Given the description of an element on the screen output the (x, y) to click on. 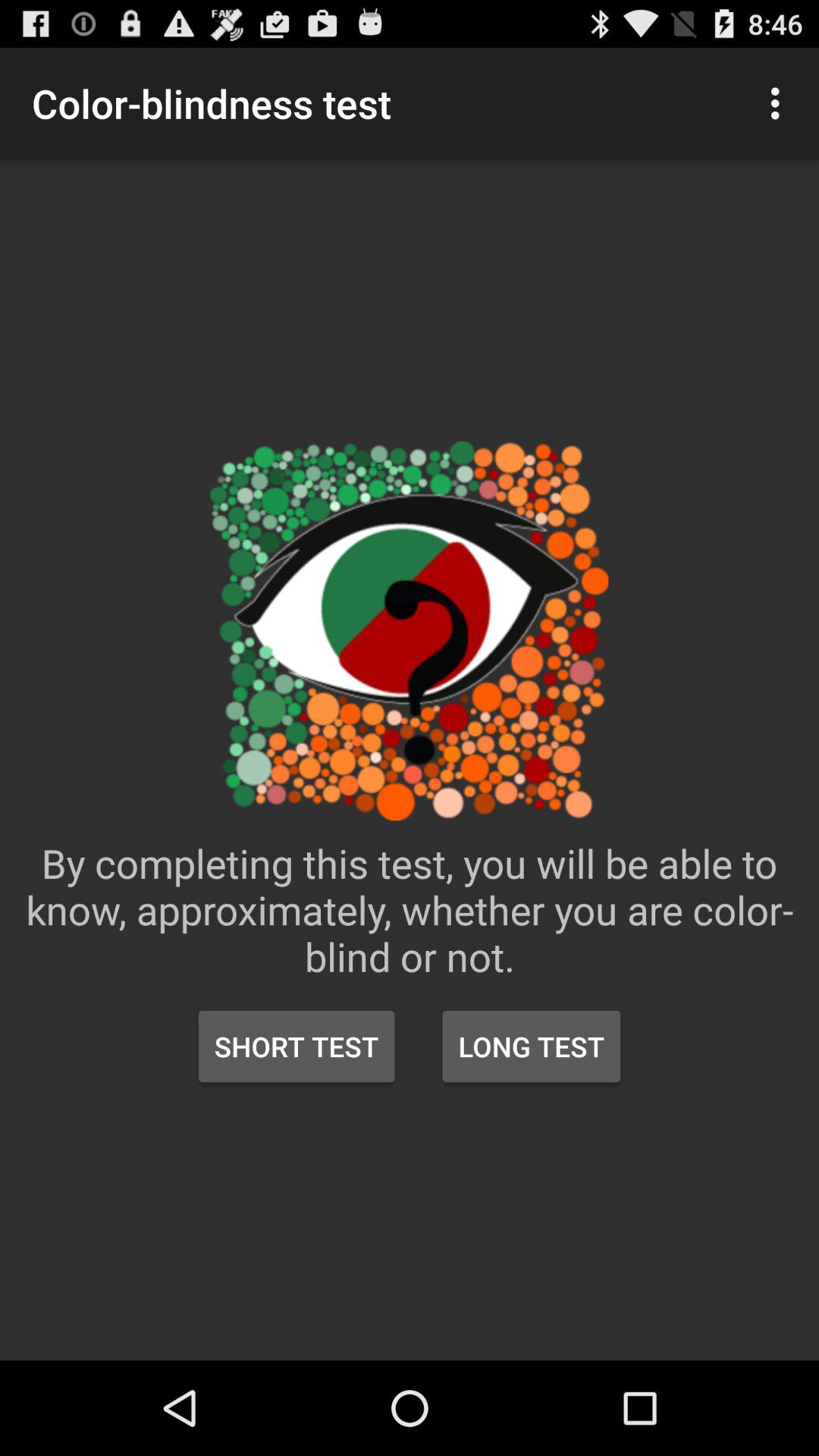
choose item next to the color-blindness test icon (779, 103)
